Given the description of an element on the screen output the (x, y) to click on. 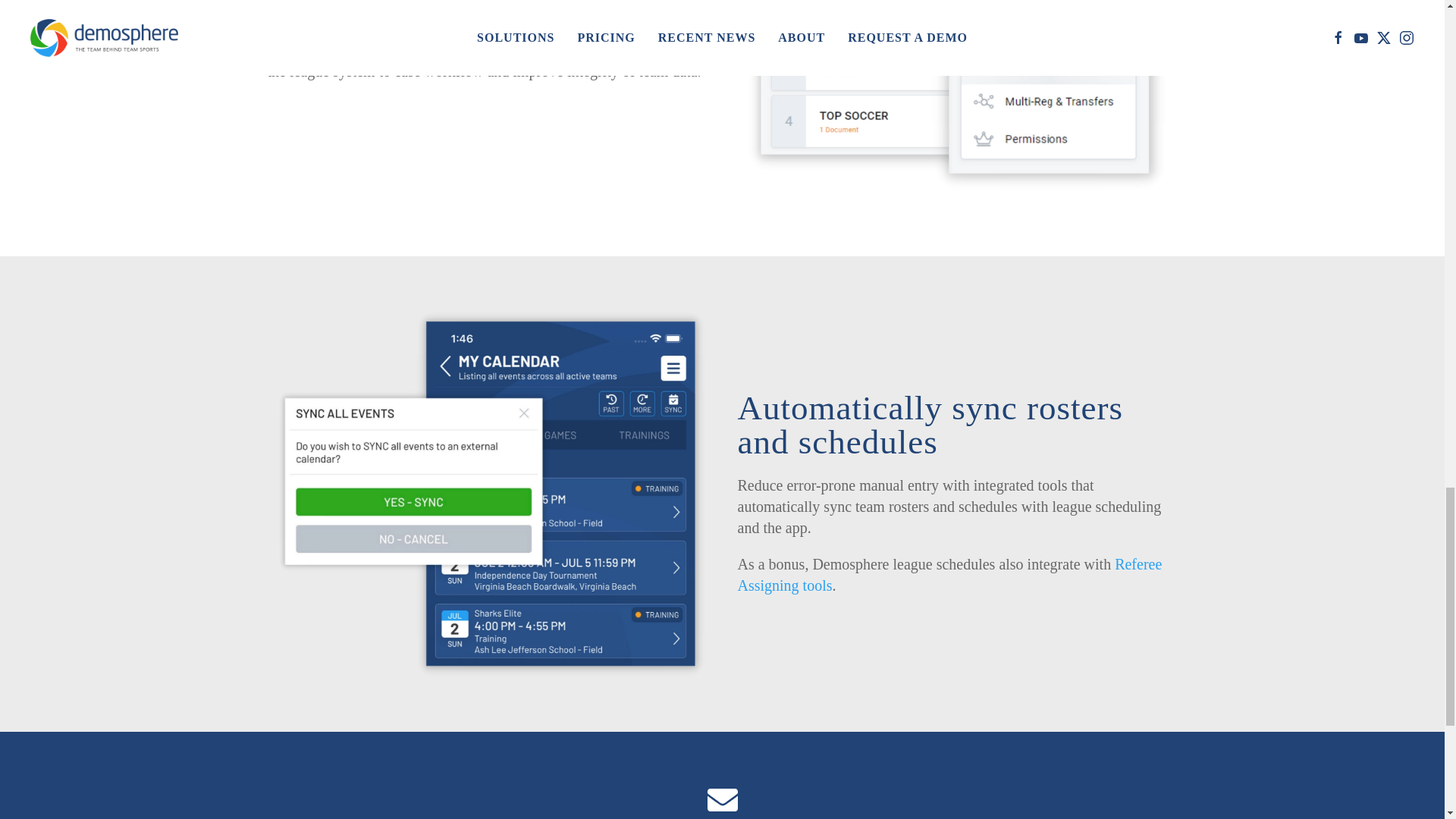
Referee Assigning tools (948, 574)
